Given the description of an element on the screen output the (x, y) to click on. 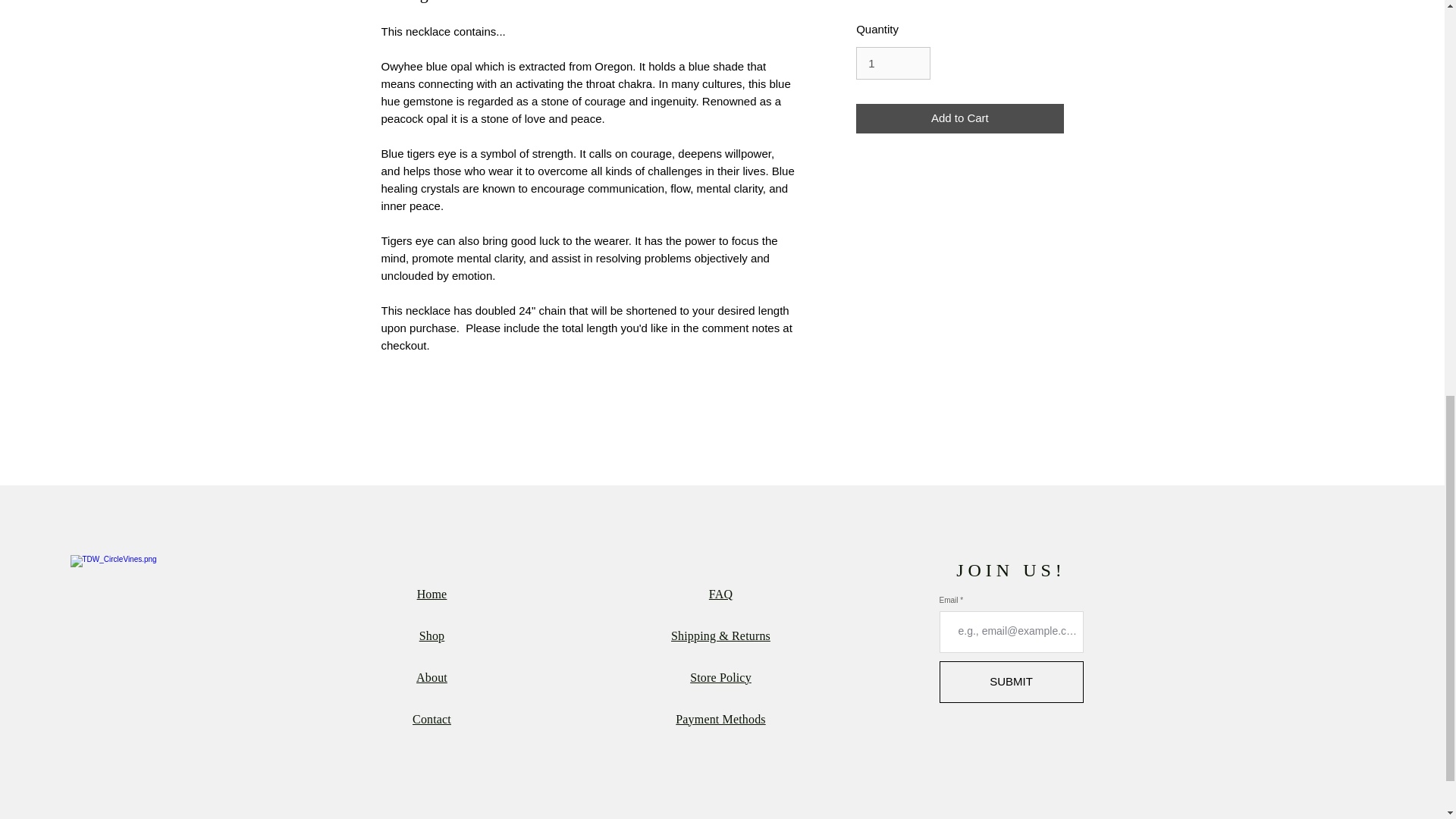
1 (893, 63)
Shop (432, 635)
Home (431, 594)
FAQ (720, 594)
About (431, 676)
Contact (431, 718)
Add to Cart (959, 118)
